Given the description of an element on the screen output the (x, y) to click on. 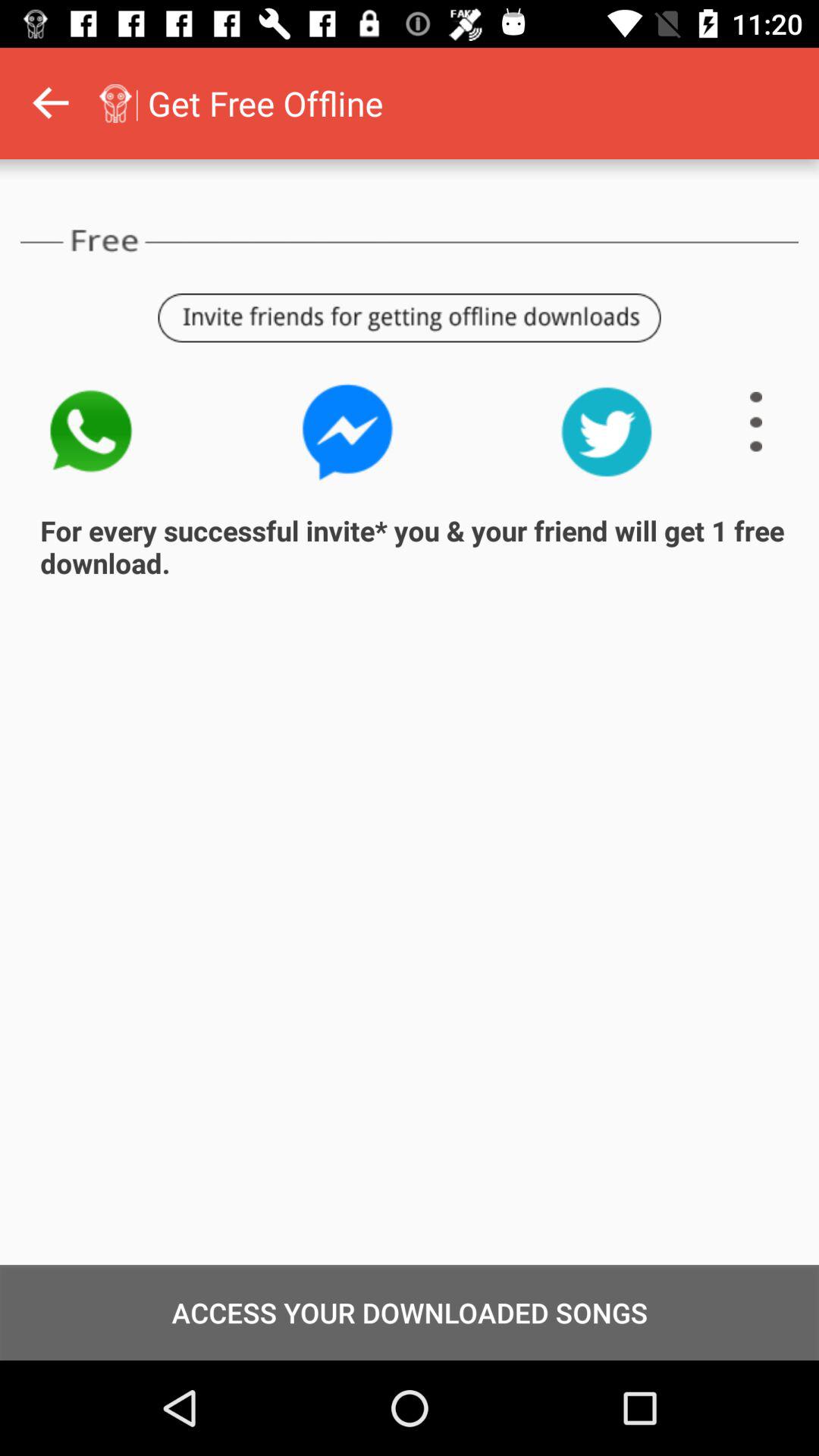
more option of sharing (756, 421)
